Given the description of an element on the screen output the (x, y) to click on. 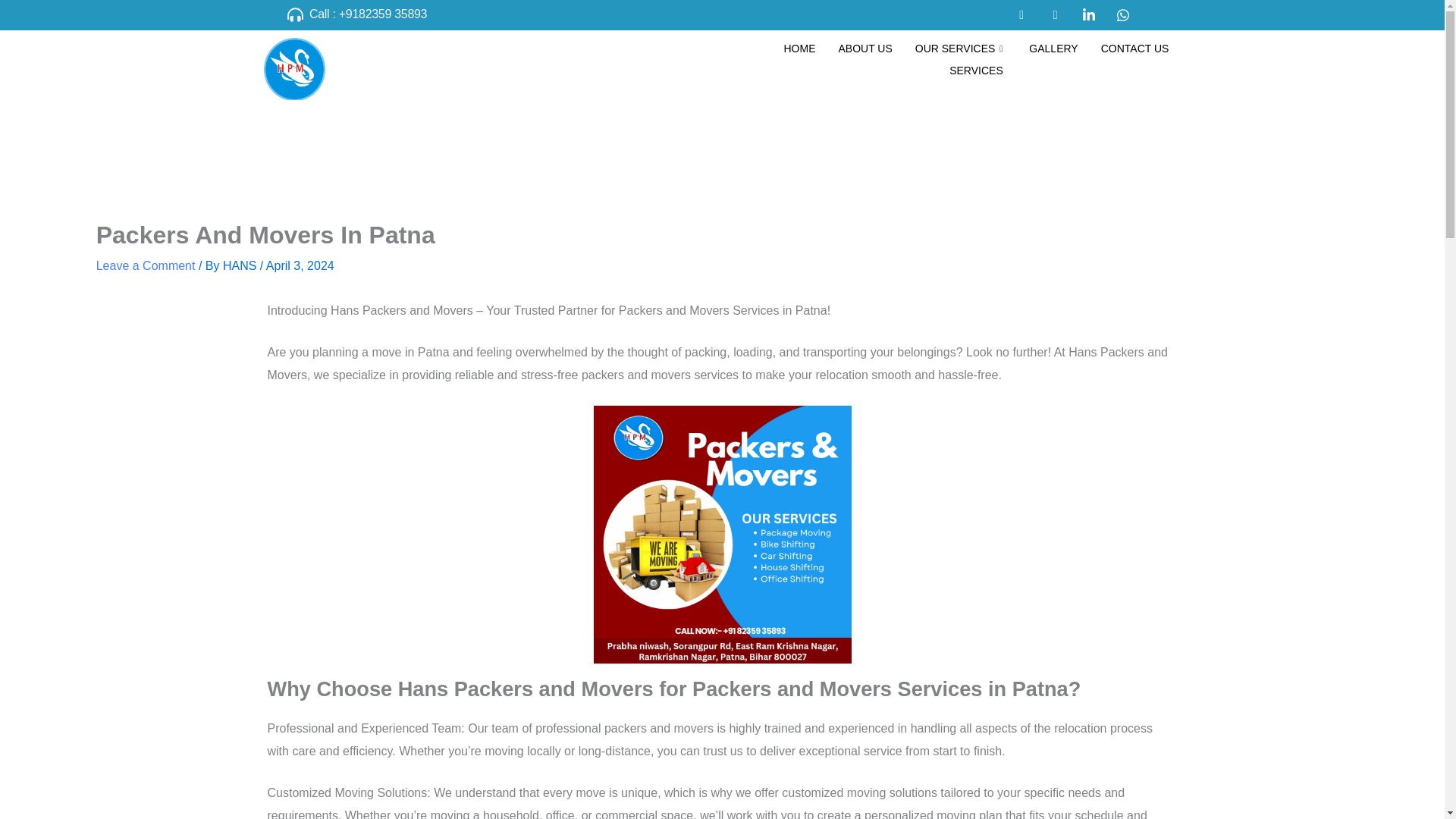
ABOUT US (864, 48)
GALLERY (1053, 48)
SERVICES (975, 71)
HOME (799, 48)
HANS (241, 265)
View all posts by HANS (241, 265)
OUR SERVICES (960, 48)
CONTACT US (1134, 48)
Leave a Comment (145, 265)
